Given the description of an element on the screen output the (x, y) to click on. 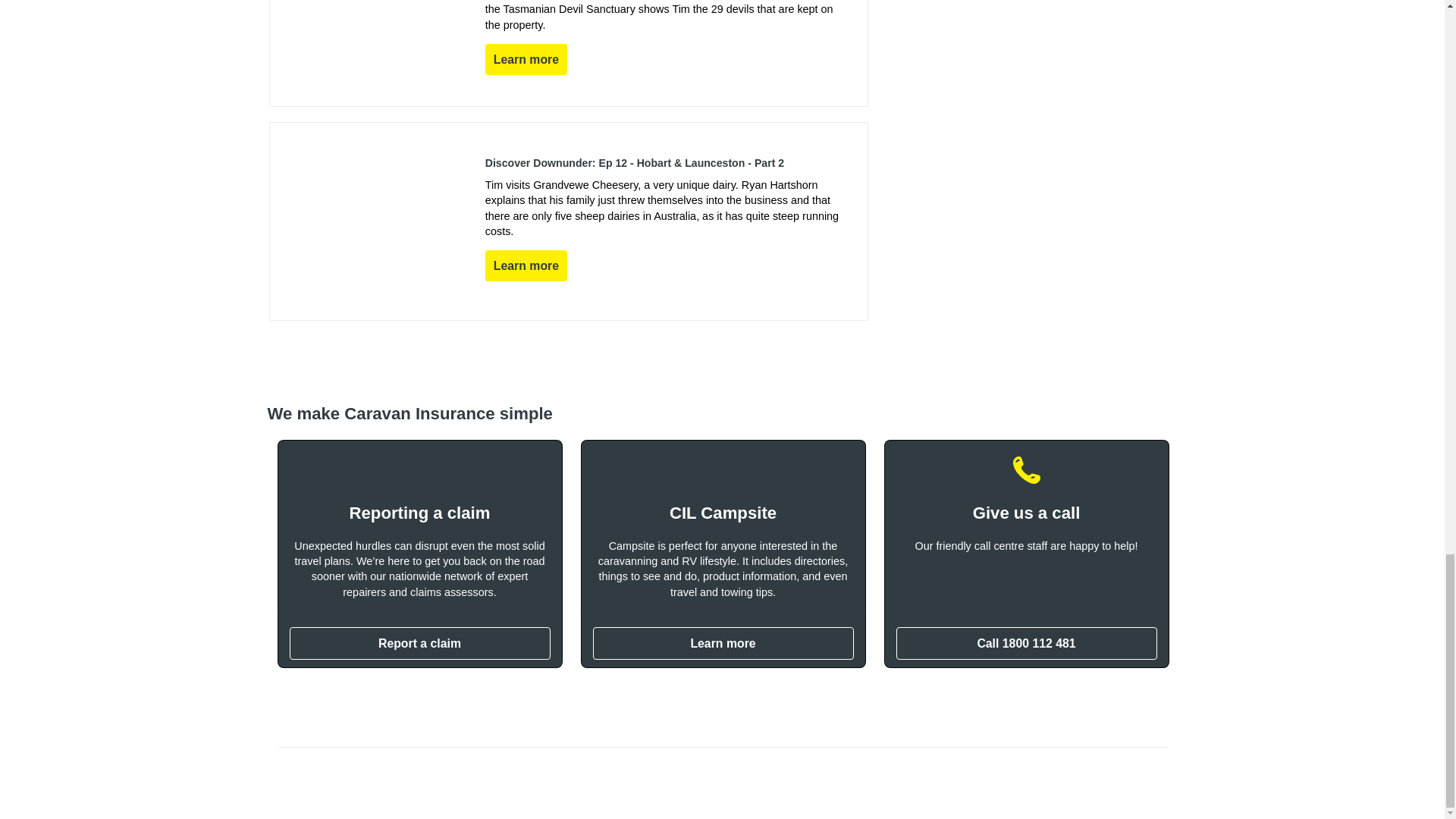
Learn more (722, 643)
Read full article (525, 59)
Article (568, 52)
Report a claim (419, 643)
Article (568, 221)
Read full article (525, 265)
Call 1800 112 481 (1026, 643)
